Given the description of an element on the screen output the (x, y) to click on. 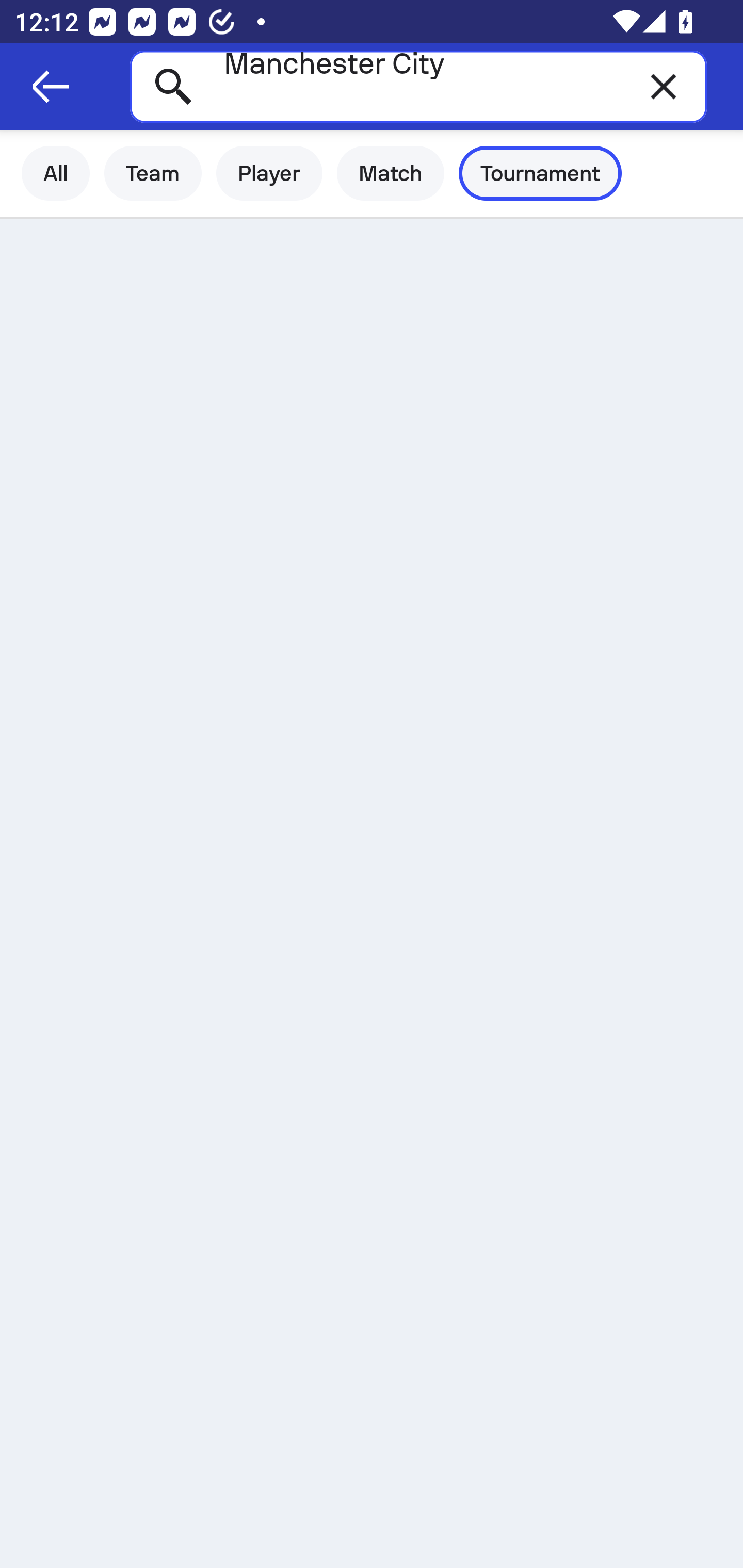
Navigate up (50, 86)
Manchester City
 (418, 86)
Clear text (663, 86)
All (55, 172)
Team (152, 172)
Player (268, 172)
Match (390, 172)
Tournament (540, 172)
